Given the description of an element on the screen output the (x, y) to click on. 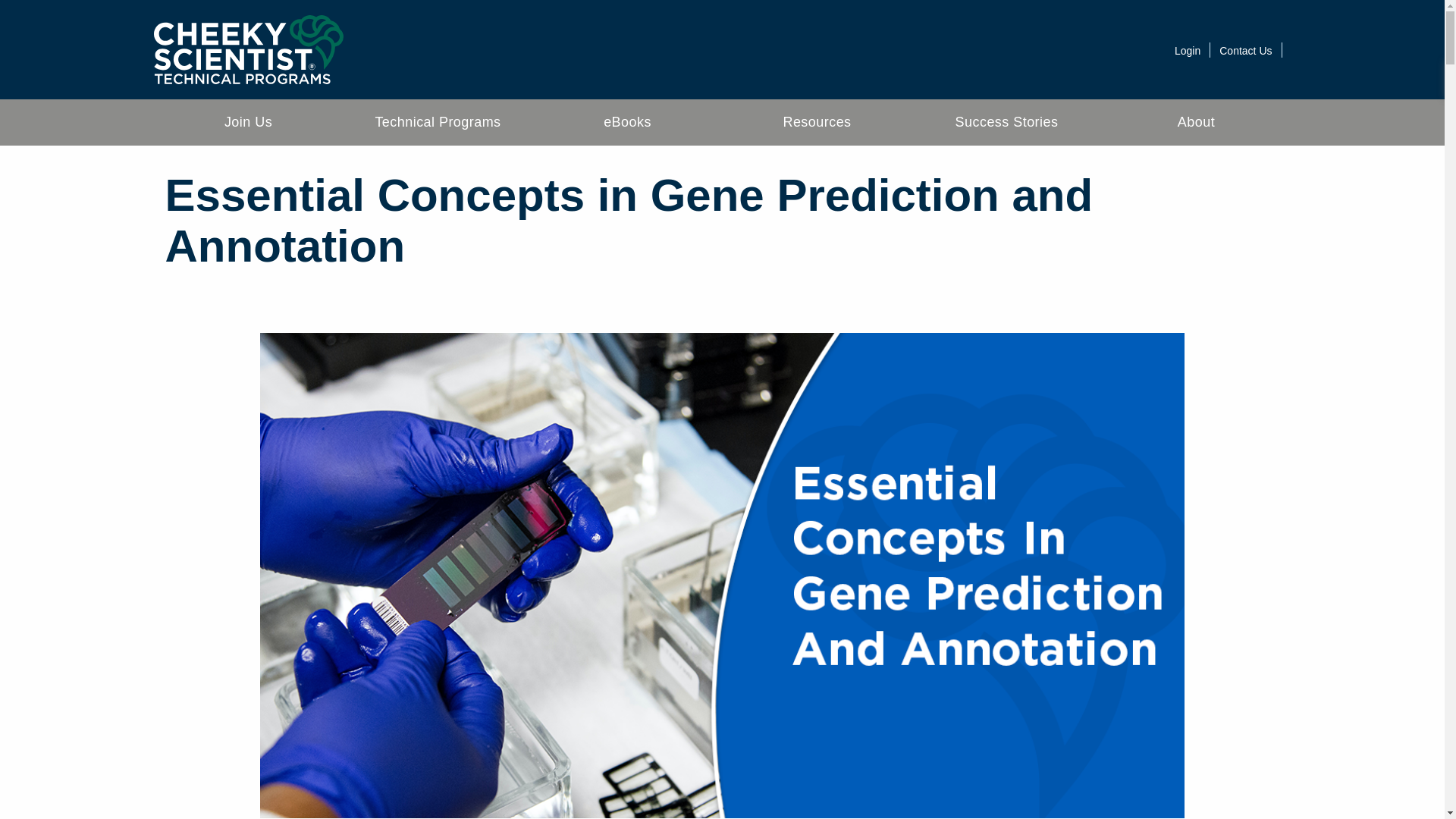
About (1195, 122)
Join Us (247, 122)
Login (1186, 50)
Resources (816, 122)
eBooks (627, 122)
Success Stories (1005, 122)
Contact Us (1245, 50)
Technical Programs (437, 122)
